Given the description of an element on the screen output the (x, y) to click on. 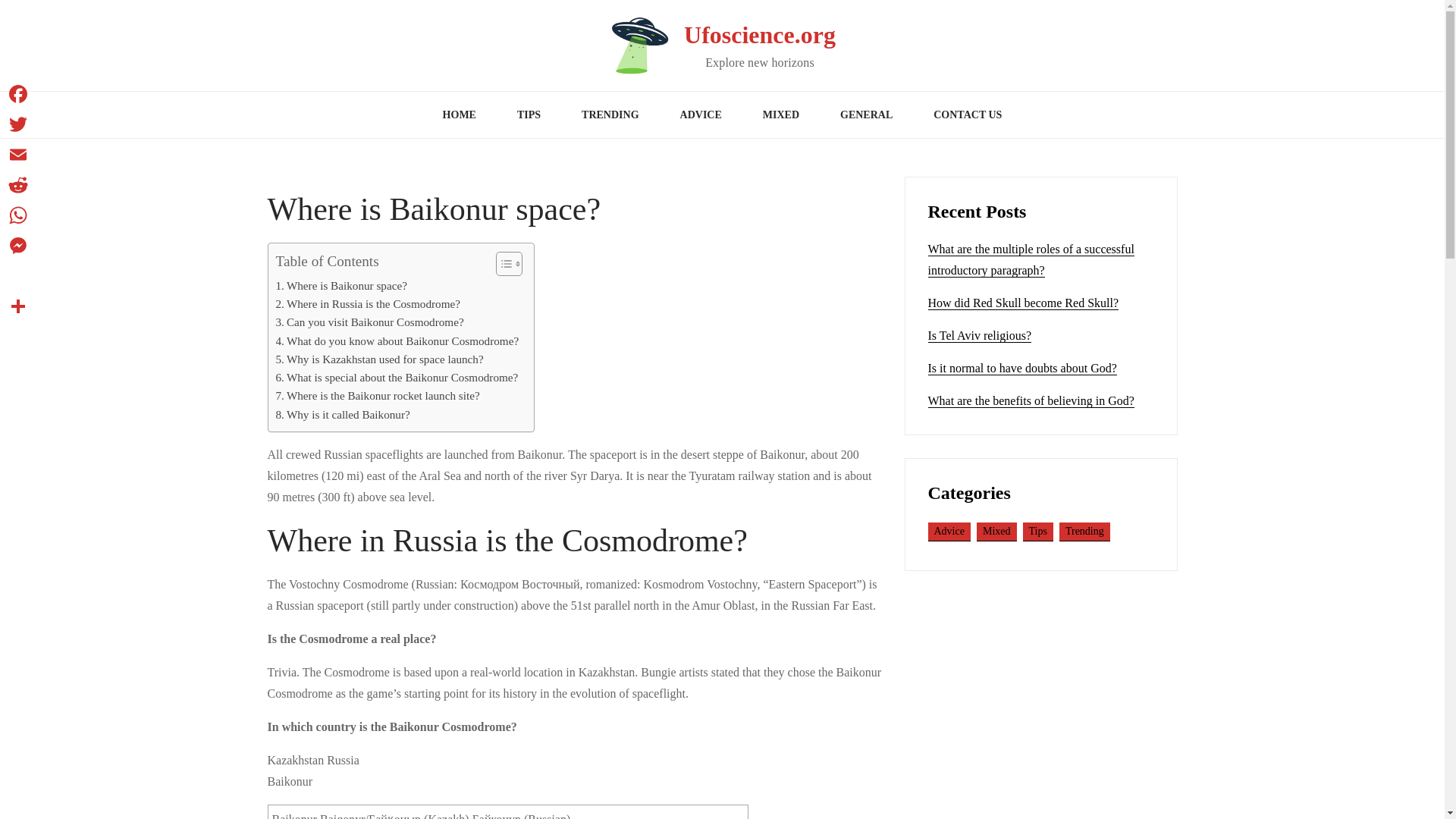
Reddit (17, 184)
TIPS (528, 114)
TRENDING (610, 114)
What are the benefits of believing in God? (1031, 400)
How did Red Skull become Red Skull? (1023, 303)
Ufoscience.org (759, 34)
Can you visit Baikonur Cosmodrome? (370, 321)
HOME (459, 114)
Facebook (17, 93)
ADVICE (701, 114)
